Given the description of an element on the screen output the (x, y) to click on. 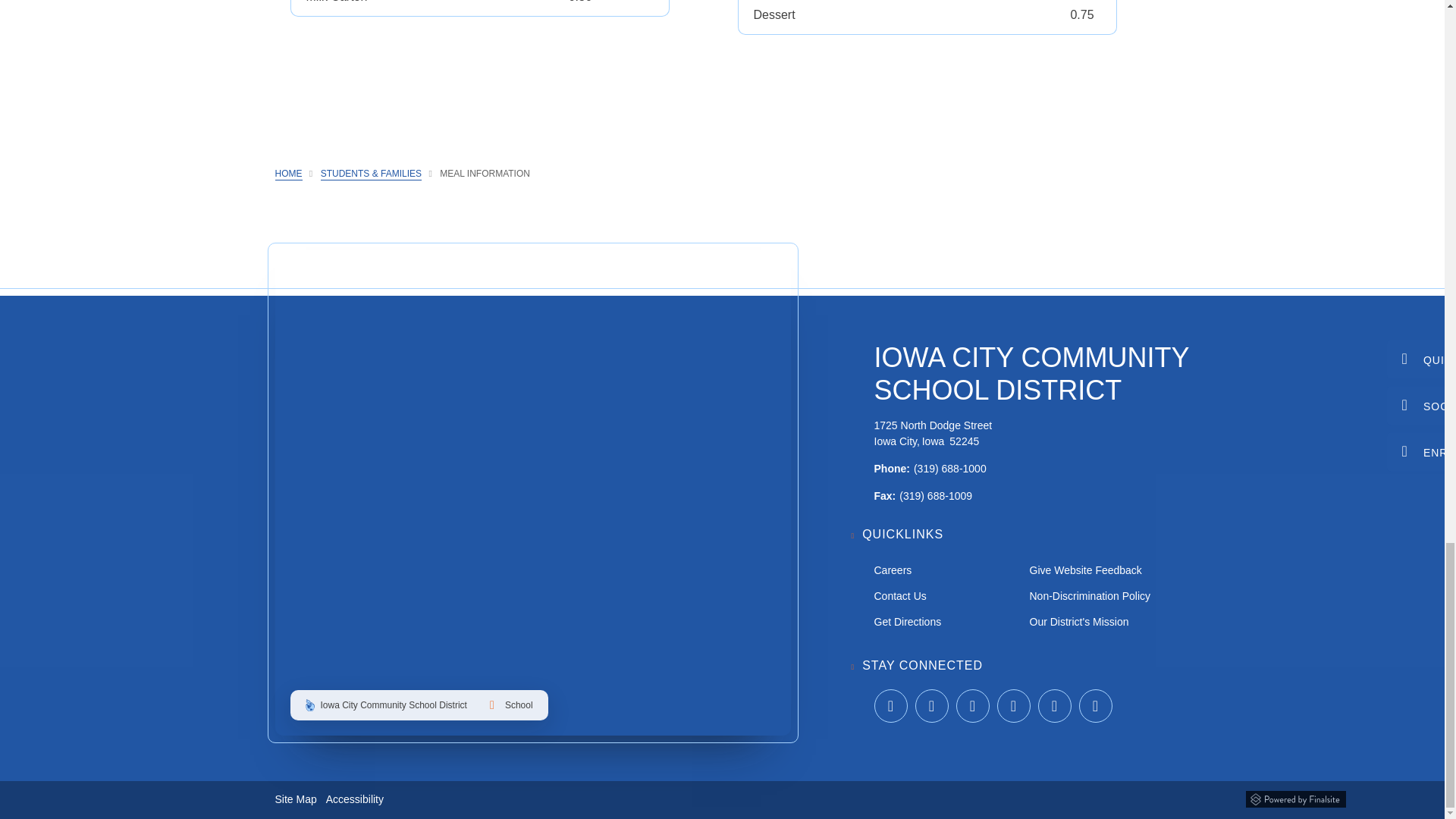
Powered by Finalsite opens in a new window (1295, 796)
